Given the description of an element on the screen output the (x, y) to click on. 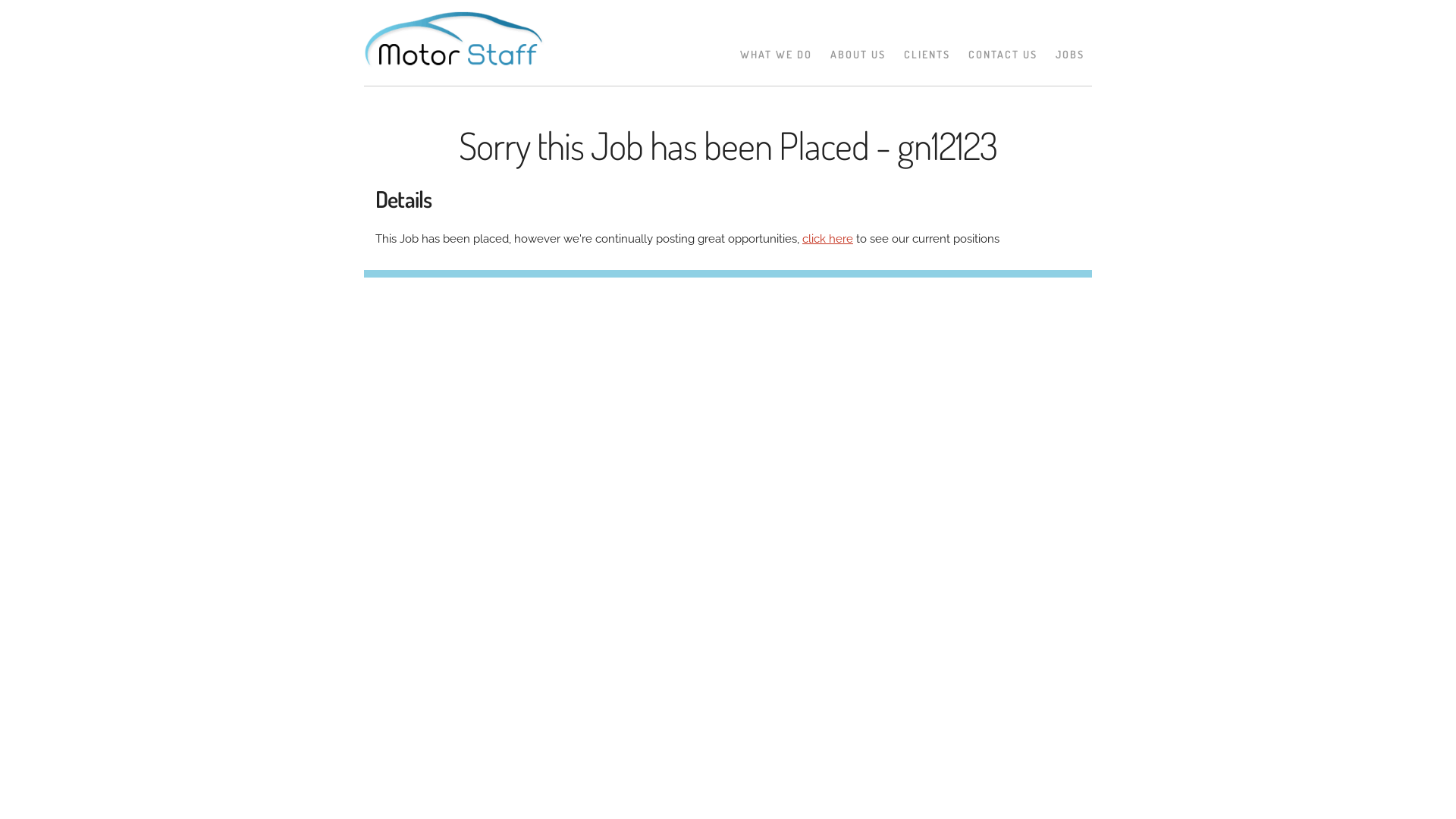
CONTACT US Element type: text (1002, 53)
click here Element type: text (827, 238)
CLIENTS Element type: text (926, 53)
Sorry this Job has been Placed - gn12123 Element type: text (727, 145)
WHAT WE DO Element type: text (776, 53)
ABOUT US Element type: text (857, 53)
JOBS Element type: text (1069, 53)
